Given the description of an element on the screen output the (x, y) to click on. 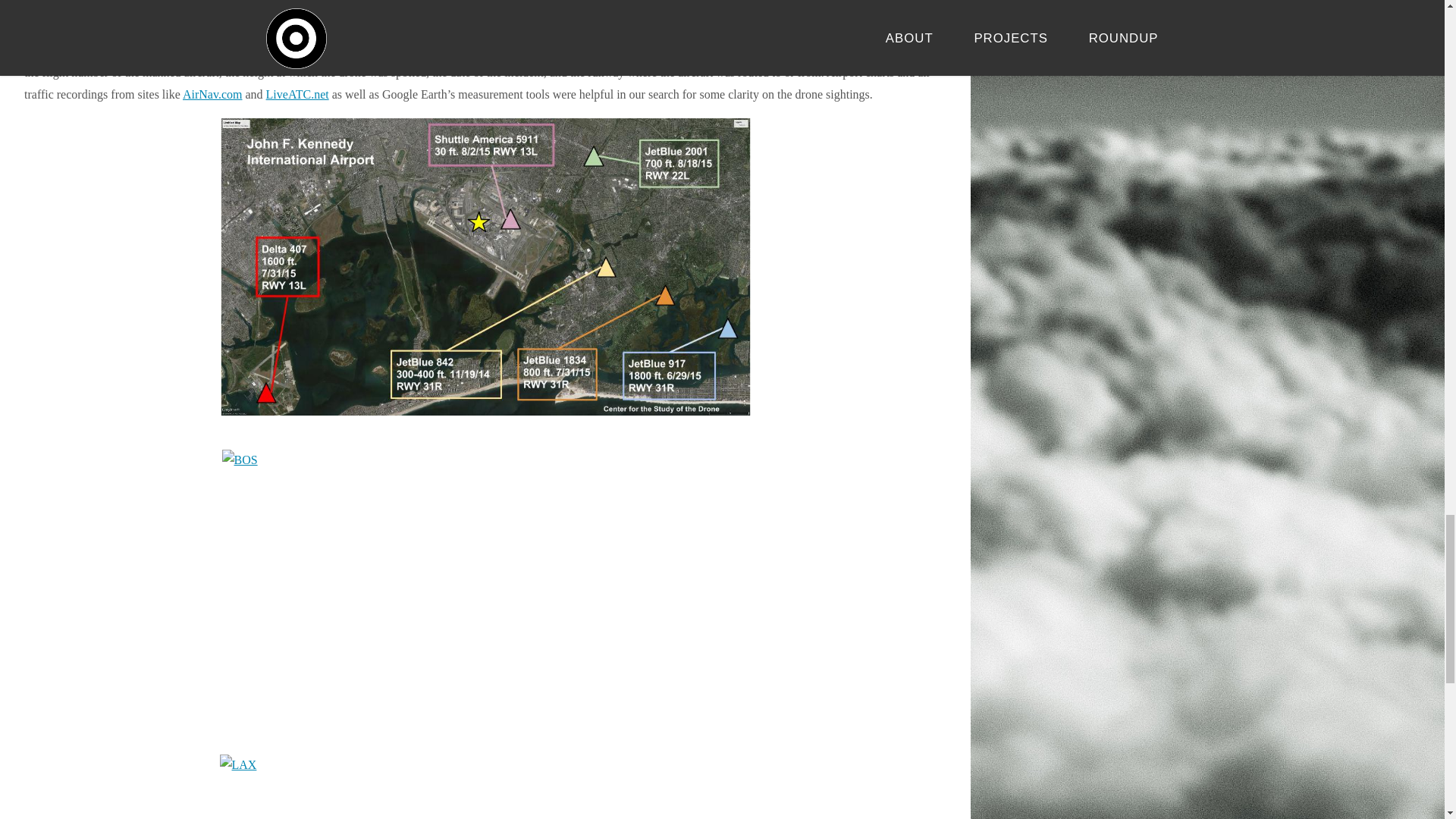
AirNav.com (213, 93)
LiveATC.net (297, 93)
